Given the description of an element on the screen output the (x, y) to click on. 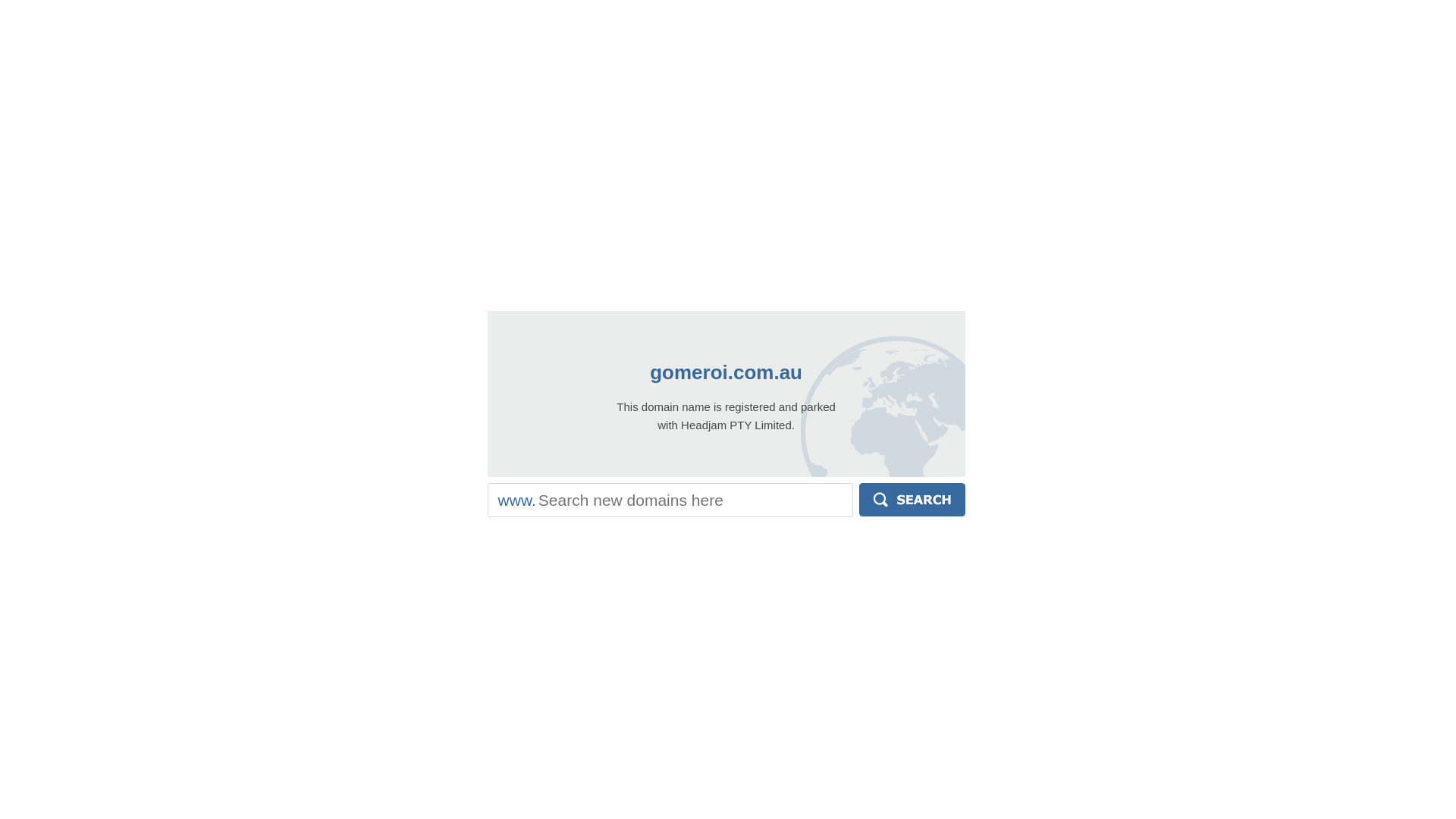
Search Element type: text (912, 499)
